Given the description of an element on the screen output the (x, y) to click on. 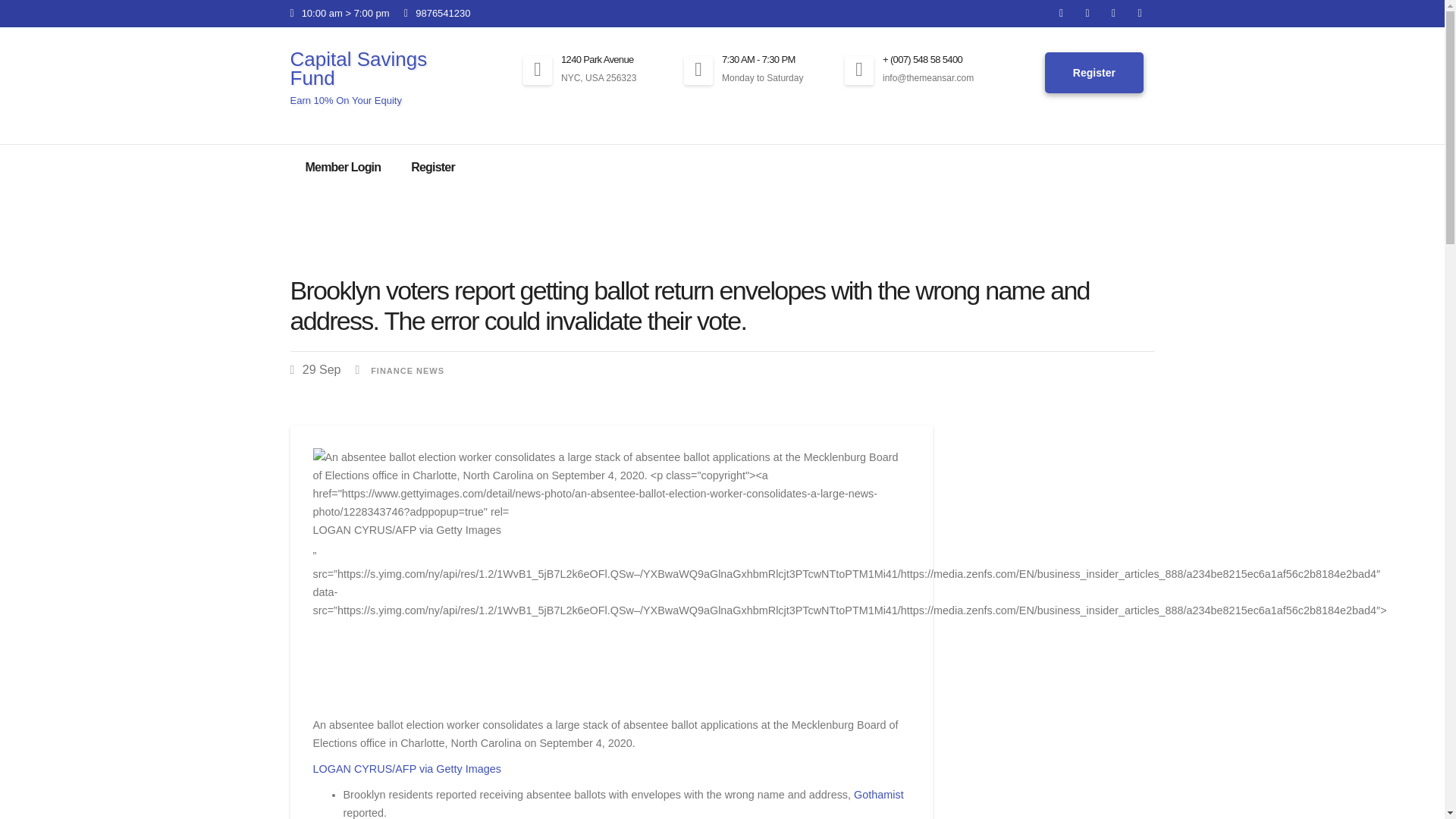
Register (433, 167)
9876541230 (437, 12)
FINANCE NEWS (407, 370)
Member Login (342, 167)
Register (1092, 72)
Gothamist (878, 794)
